Given the description of an element on the screen output the (x, y) to click on. 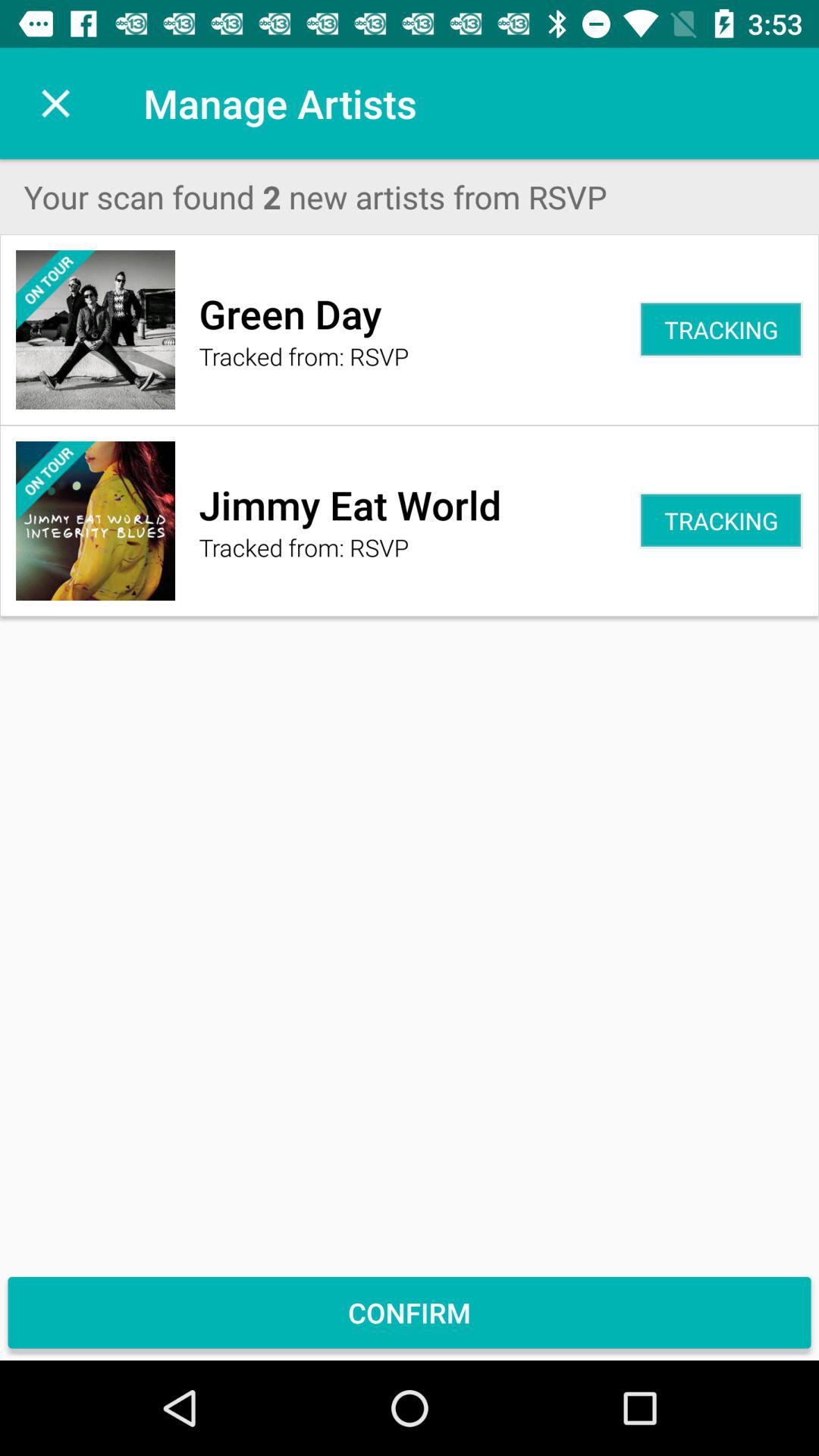
launch item above the your scan found (55, 103)
